Given the description of an element on the screen output the (x, y) to click on. 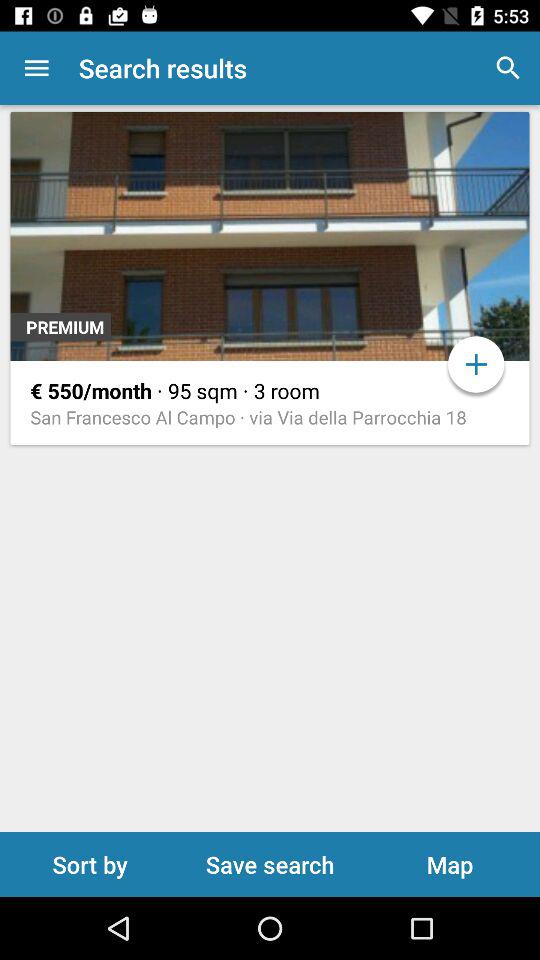
choose icon to the left of search results app (36, 68)
